Given the description of an element on the screen output the (x, y) to click on. 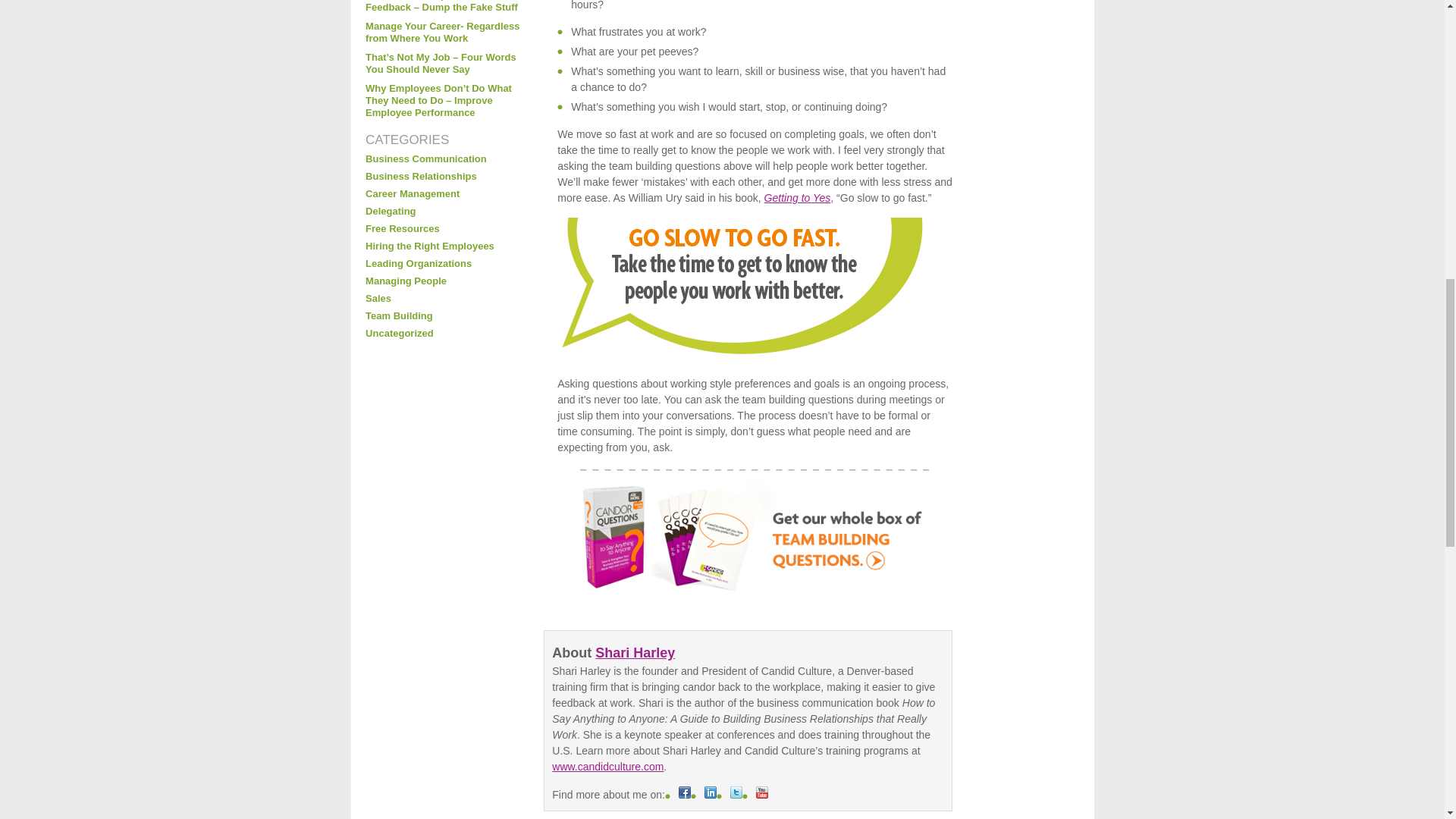
Follow me on Linkedin (710, 794)
Follow me on Twitter (736, 794)
Follow me on Facebook (684, 794)
Follow me on Youtube (761, 794)
